Given the description of an element on the screen output the (x, y) to click on. 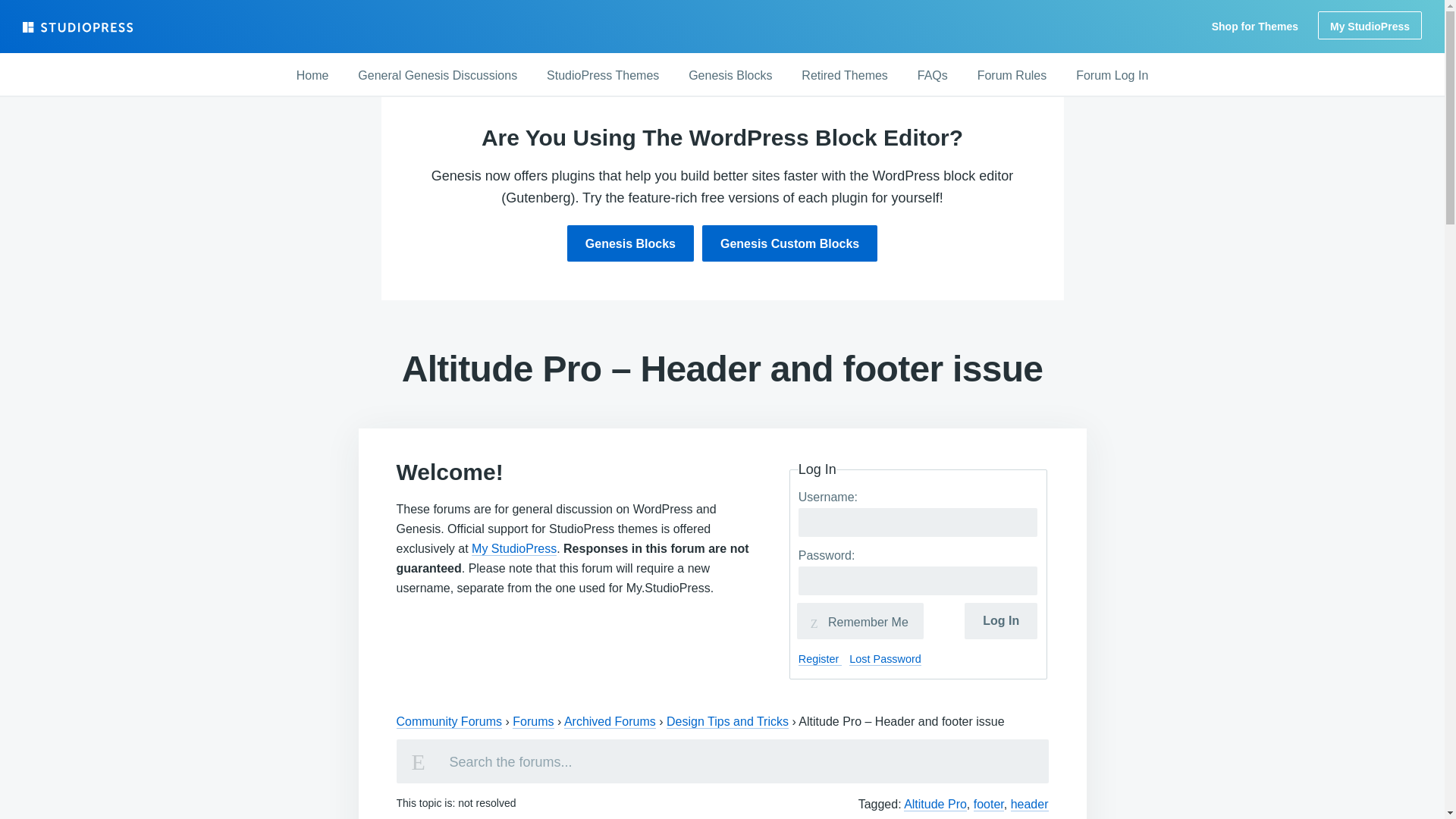
header (1029, 804)
Altitude Pro (935, 804)
StudioPress.com (79, 27)
footer (989, 804)
Archived Forums (610, 721)
Forum Log In (1112, 75)
Log In (999, 620)
My StudioPress (1369, 25)
Register (820, 658)
My StudioPress (513, 549)
StudioPress Themes (602, 75)
Home (312, 75)
Register (820, 658)
Genesis Blocks (729, 75)
Community Forums (449, 721)
